Given the description of an element on the screen output the (x, y) to click on. 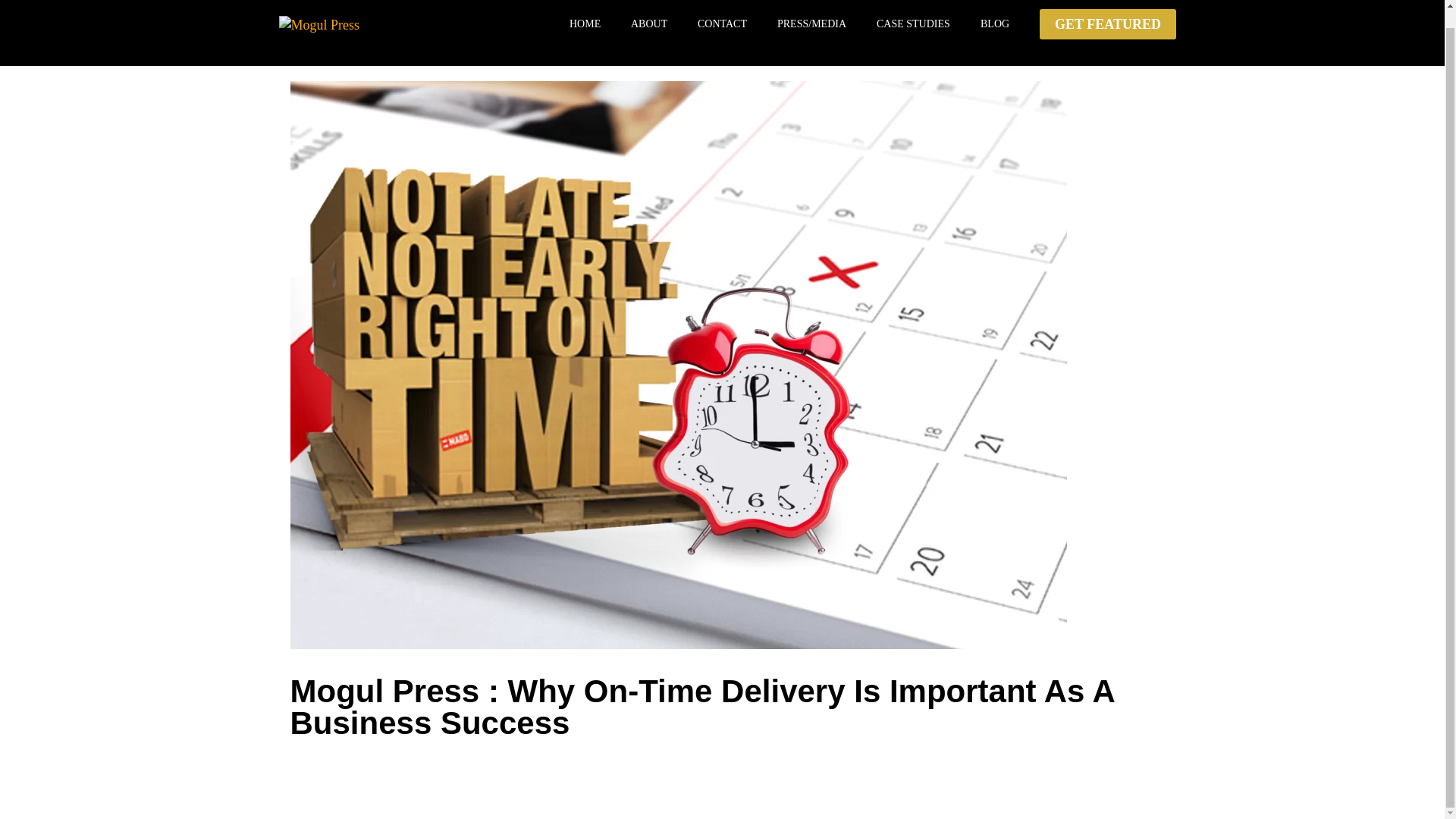
CASE STUDIES (913, 32)
GET FEATURED (1107, 24)
Mogul Press (354, 24)
